Given the description of an element on the screen output the (x, y) to click on. 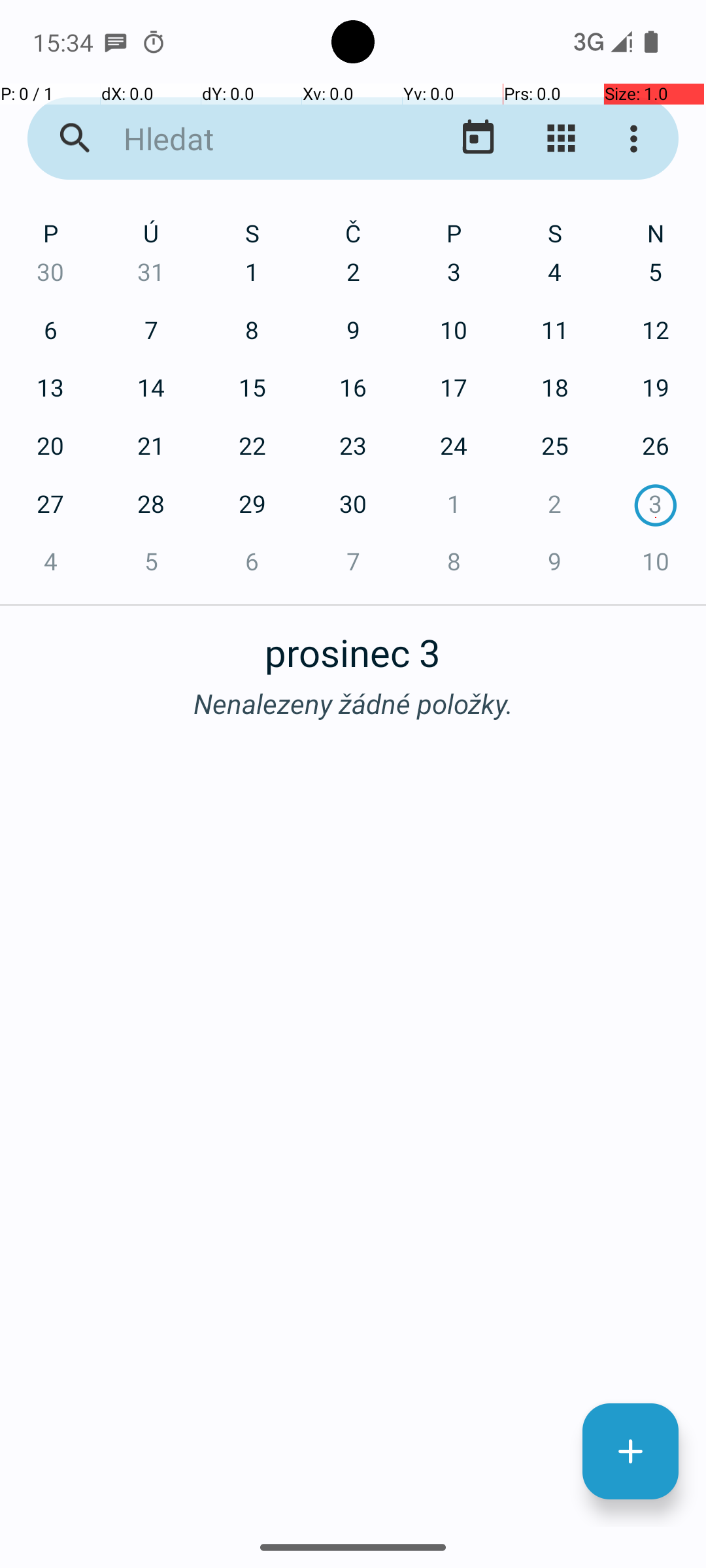
prosinec 3 Element type: android.widget.TextView (352, 644)
Nenalezeny žádné položky. Element type: android.widget.TextView (352, 702)
SMS Messenger notification: +17247648679 Element type: android.widget.ImageView (115, 41)
